Given the description of an element on the screen output the (x, y) to click on. 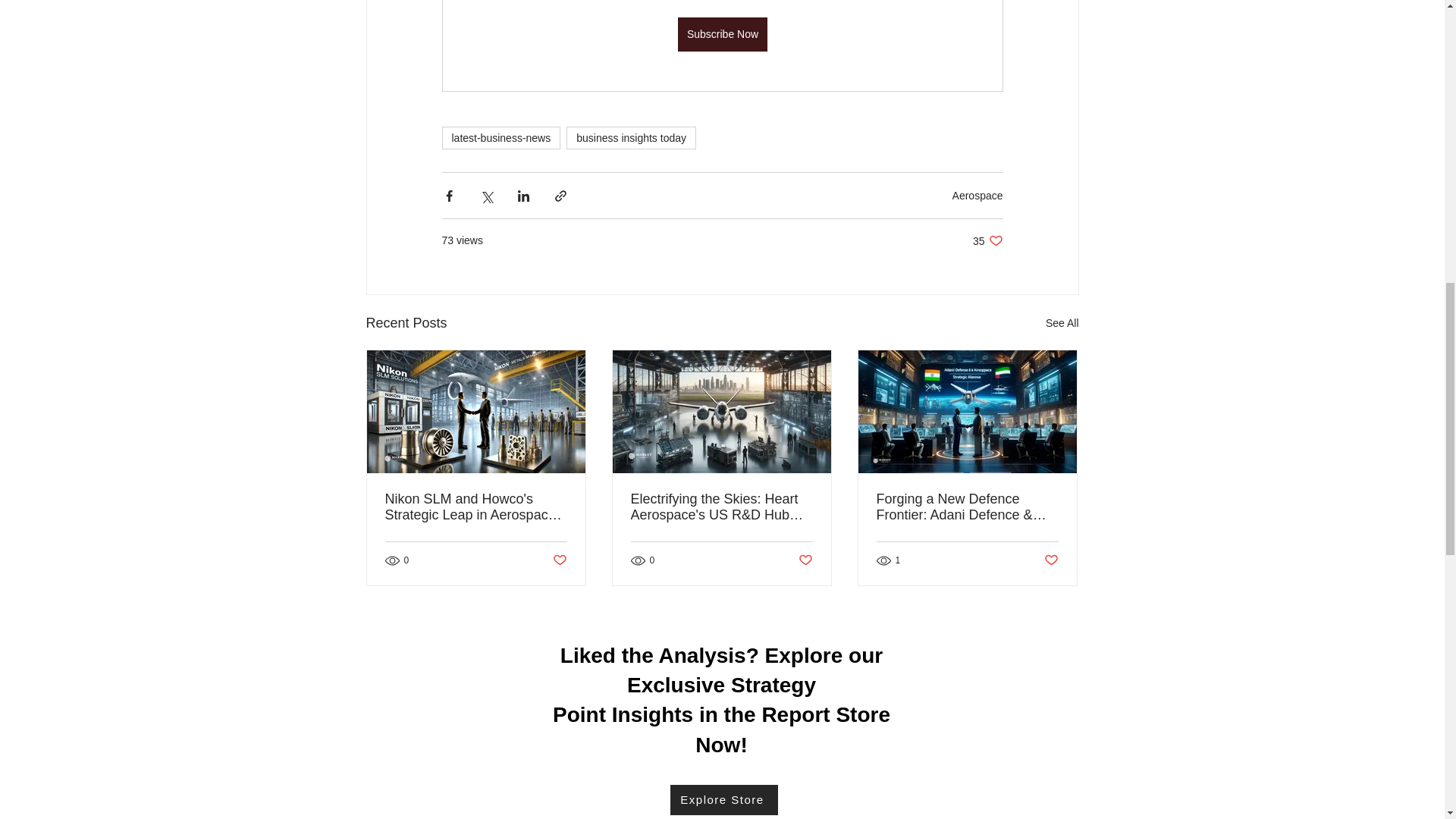
business insights today (630, 137)
latest-business-news (500, 137)
See All (1061, 323)
Post not marked as liked (558, 560)
Subscribe Now (722, 34)
Post not marked as liked (987, 240)
Aerospace (804, 560)
